Given the description of an element on the screen output the (x, y) to click on. 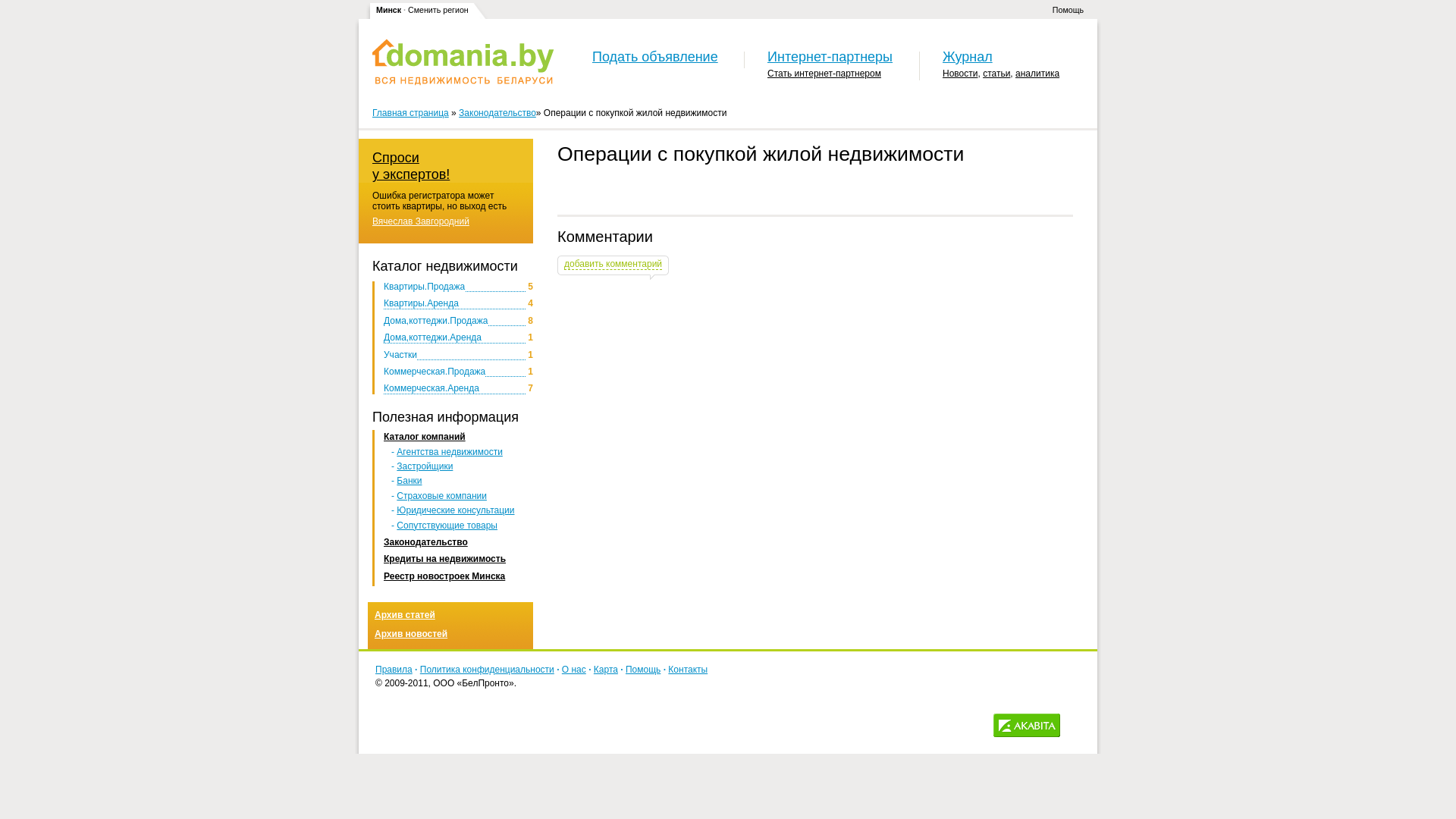
www.domania.by Element type: hover (463, 61)
LiveInternet Element type: hover (1075, 725)
